Given the description of an element on the screen output the (x, y) to click on. 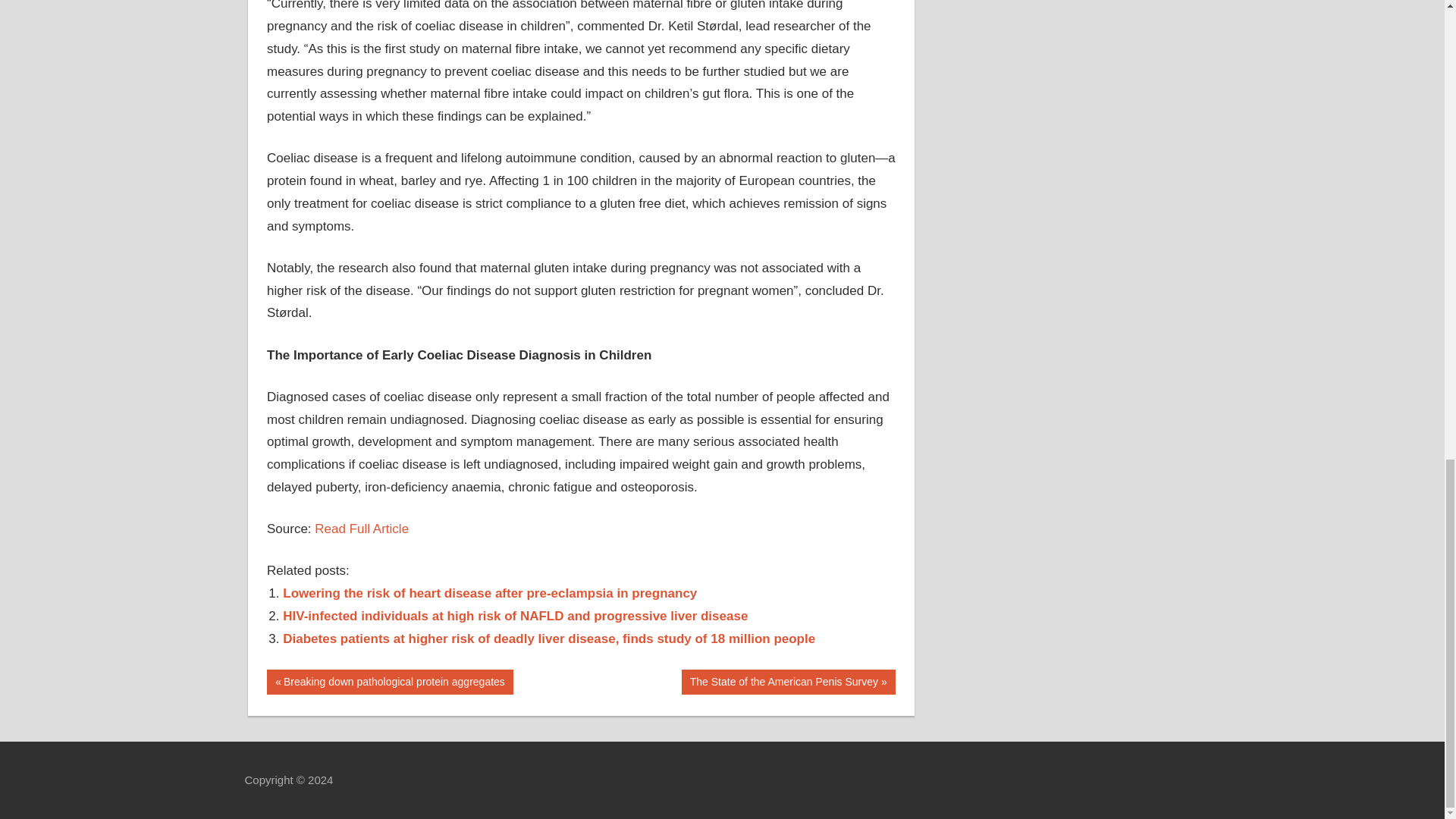
CELIAC (788, 681)
Read Full Article (287, 679)
